Given the description of an element on the screen output the (x, y) to click on. 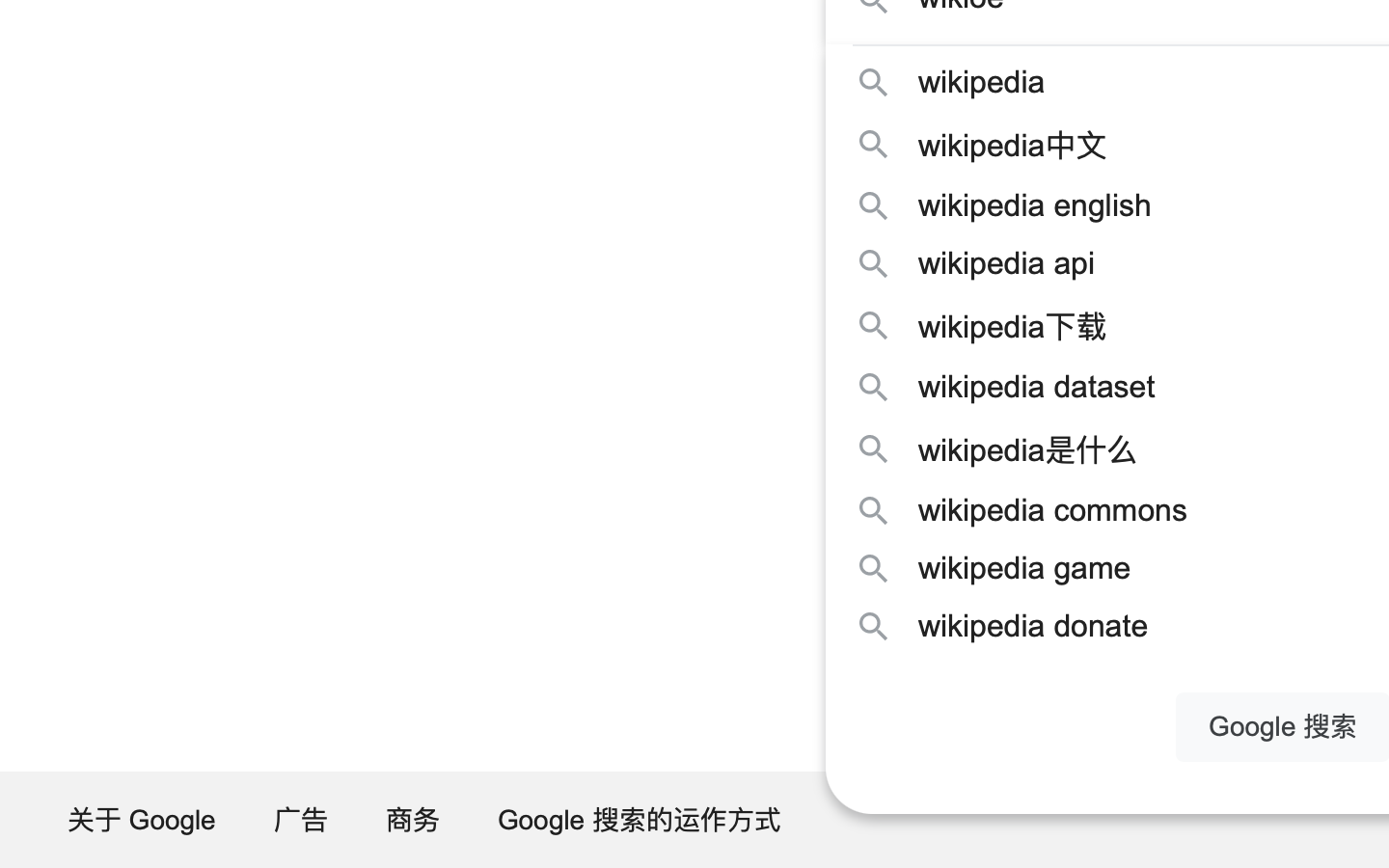
商务 Element type: AXStaticText (413, 819)
Google 搜索的运作方式 Element type: AXStaticText (640, 819)
广告 Element type: AXStaticText (301, 819)
关于 Google Element type: AXStaticText (142, 819)
